Given the description of an element on the screen output the (x, y) to click on. 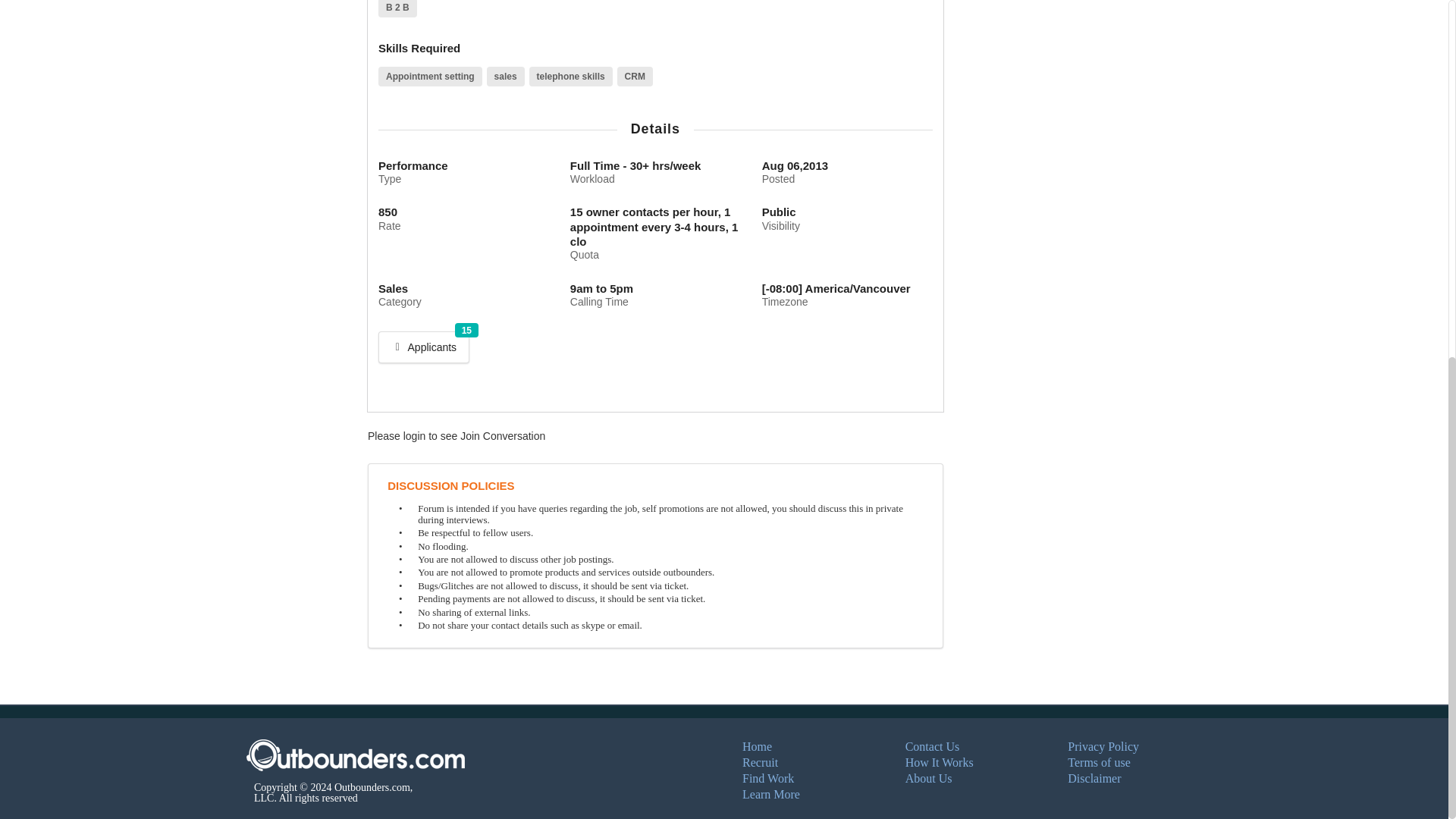
Contact Us (932, 746)
Find Work (767, 778)
Learn More (770, 793)
Home (756, 746)
Recruit (759, 762)
Privacy Policy (1102, 746)
How It Works (939, 762)
About Us (423, 347)
Live Chat Button (928, 778)
